Given the description of an element on the screen output the (x, y) to click on. 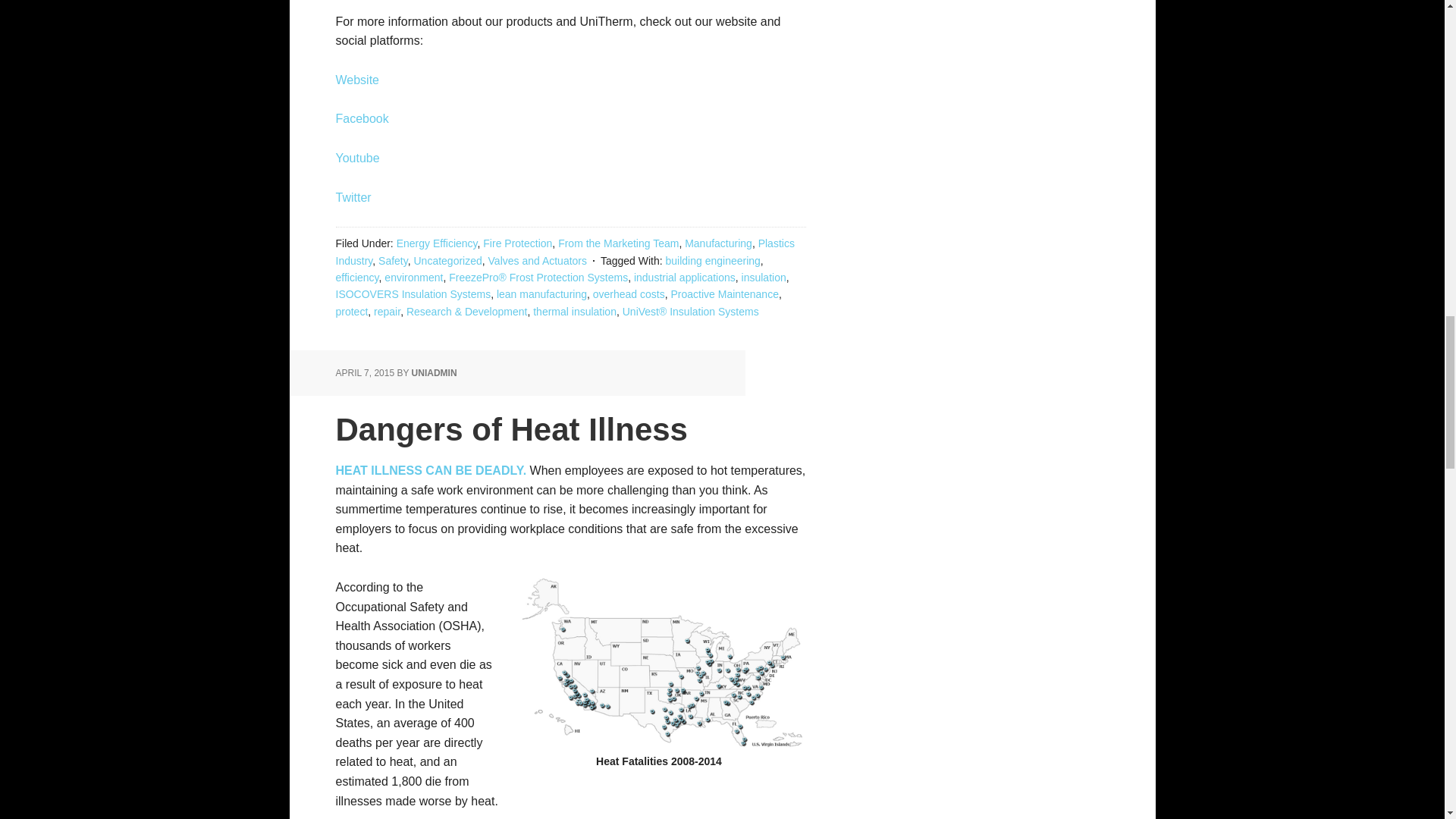
Manufacturing (718, 243)
Safety (392, 260)
Energy Efficiency (436, 243)
Website (356, 79)
Fire Protection (517, 243)
Uncategorized (447, 260)
From the Marketing Team (617, 243)
Plastics Industry (563, 251)
Youtube (356, 157)
Twitter (352, 196)
